Given the description of an element on the screen output the (x, y) to click on. 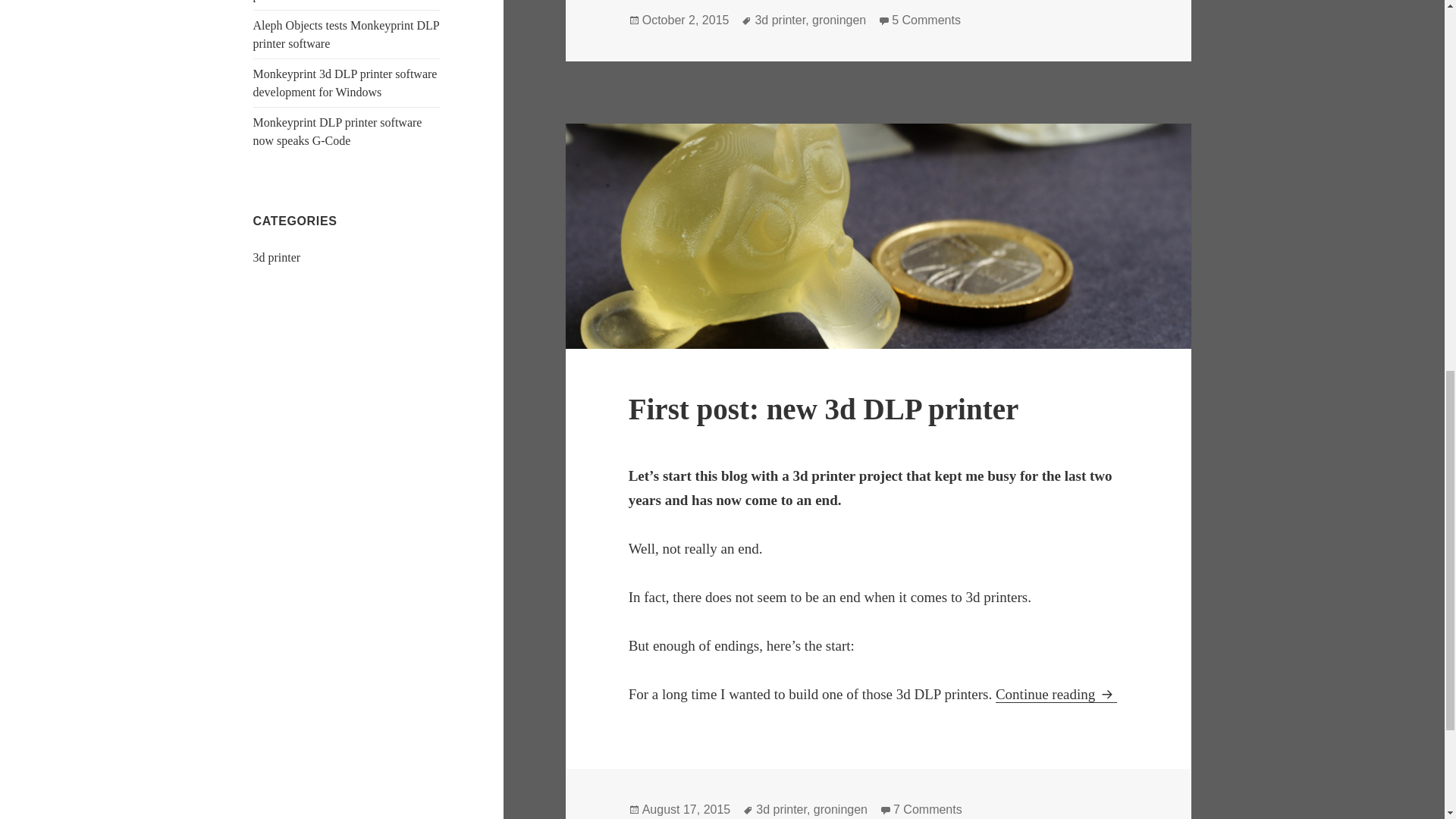
3d printer (779, 20)
Monkeyprint DLP printer software now speaks G-Code (1055, 694)
3d printer (337, 131)
3d printer (780, 809)
groningen (277, 256)
Aleph Objects tests Monkeyprint DLP printer software (925, 20)
First post: new 3d DLP printer (840, 809)
groningen (346, 33)
October 2, 2015 (927, 809)
Monkeyprint 3d DLP printer software development for Windows (823, 409)
August 17, 2015 (839, 20)
